Given the description of an element on the screen output the (x, y) to click on. 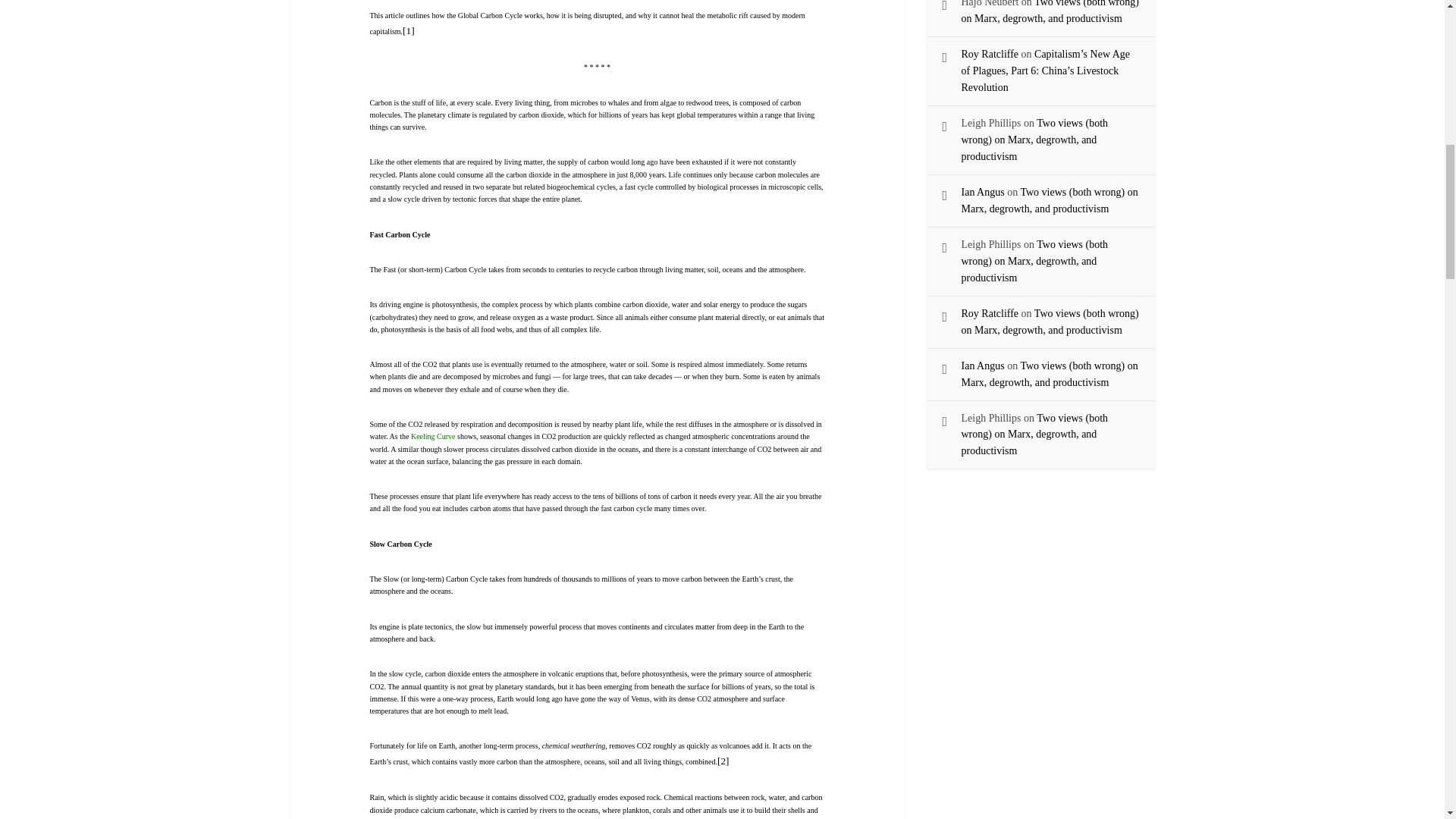
Keeling Curve (432, 436)
